Given the description of an element on the screen output the (x, y) to click on. 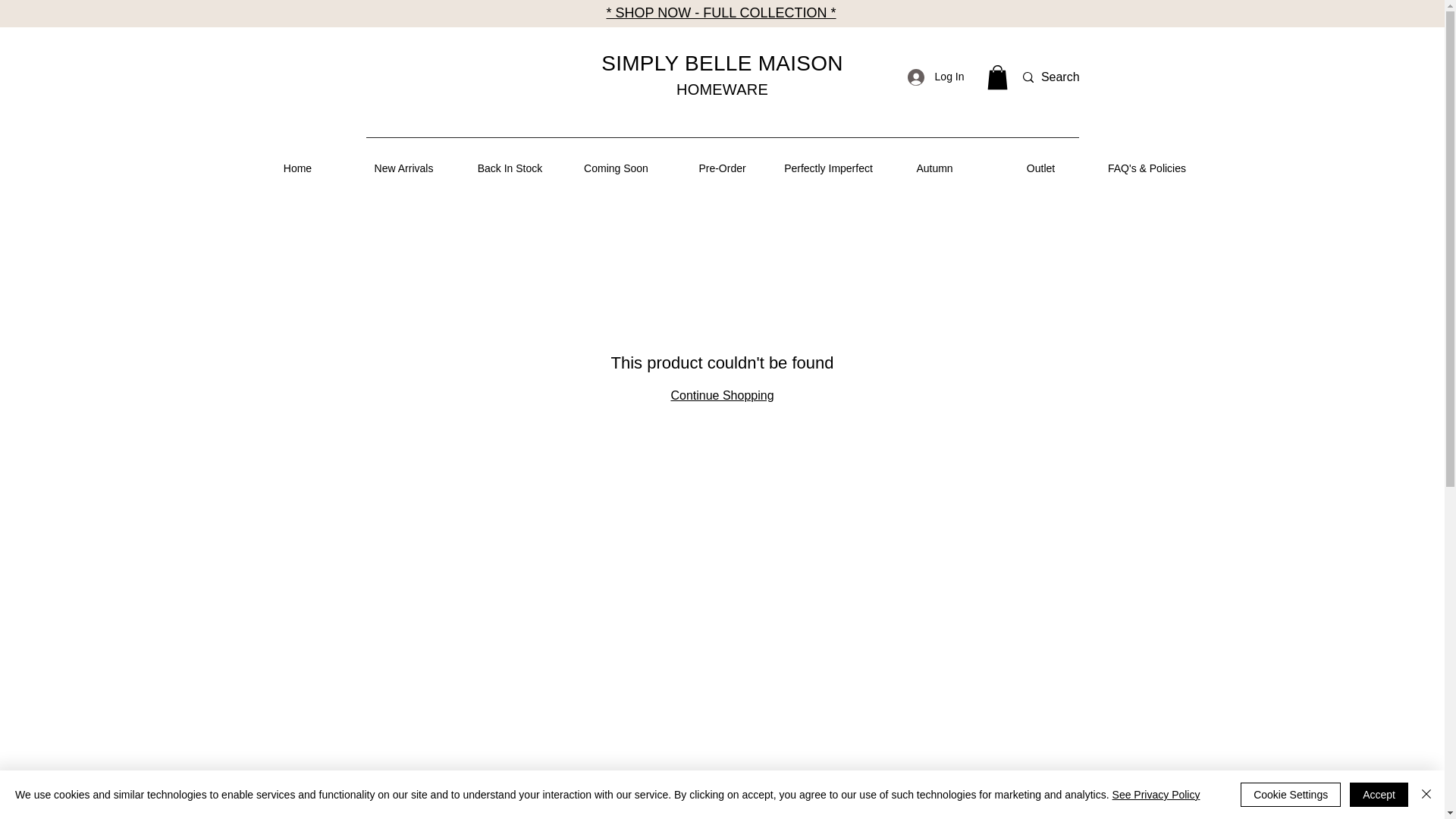
HOMEWARE (722, 89)
Outlet (1040, 168)
See Privacy Policy (1155, 794)
Coming Soon (615, 168)
Autumn (933, 168)
Continue Shopping (721, 395)
Log In (935, 76)
SIMPLY BELLE MAISON (722, 63)
New Arrivals (403, 168)
Cookie Settings (1290, 794)
